Given the description of an element on the screen output the (x, y) to click on. 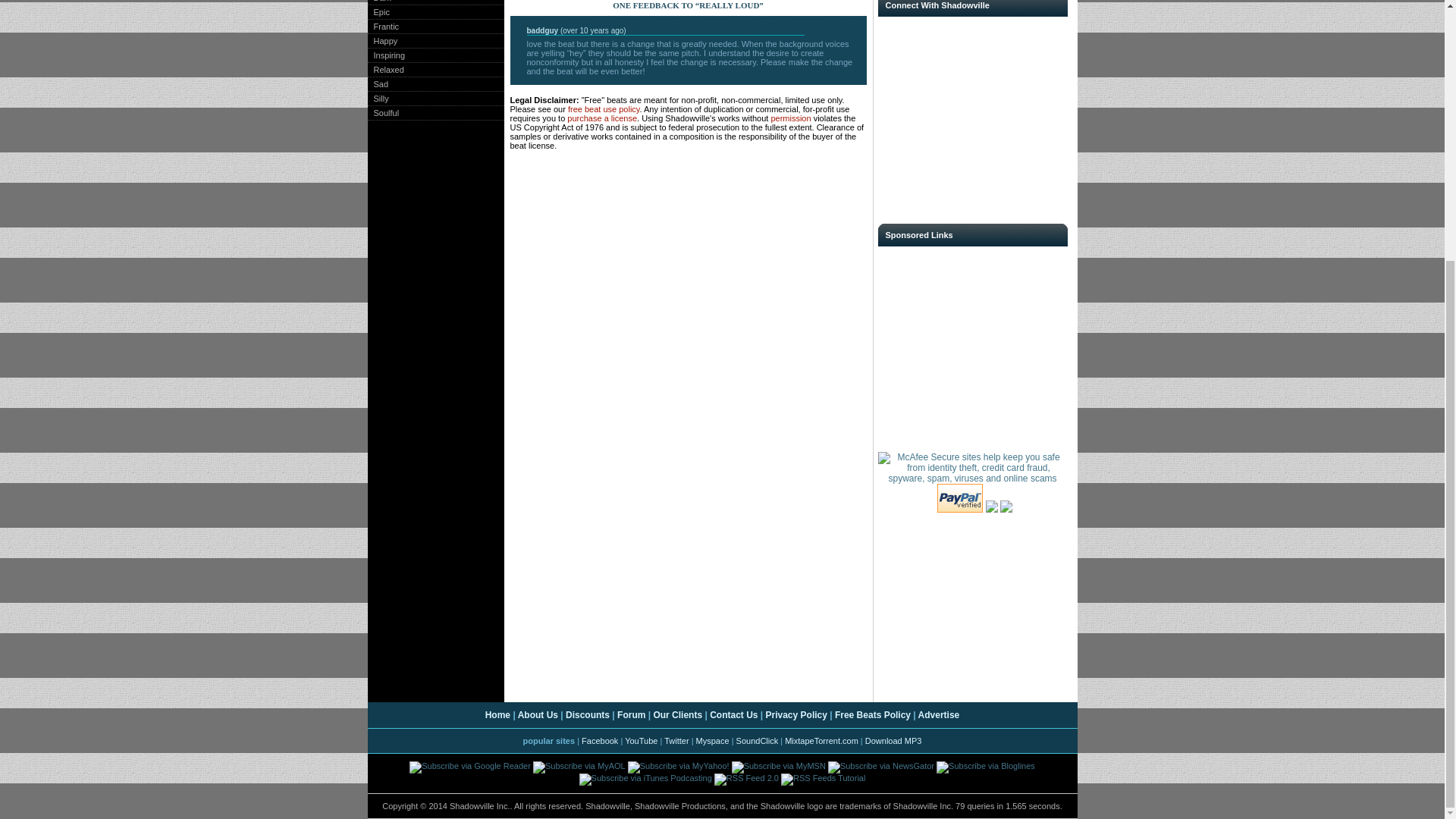
Dark (378, 1)
Sad (377, 83)
Relaxed (384, 69)
Happy (381, 40)
Frantic (382, 26)
Soulful (382, 112)
Epic (377, 11)
Inspiring (385, 54)
Silly (377, 98)
